Given the description of an element on the screen output the (x, y) to click on. 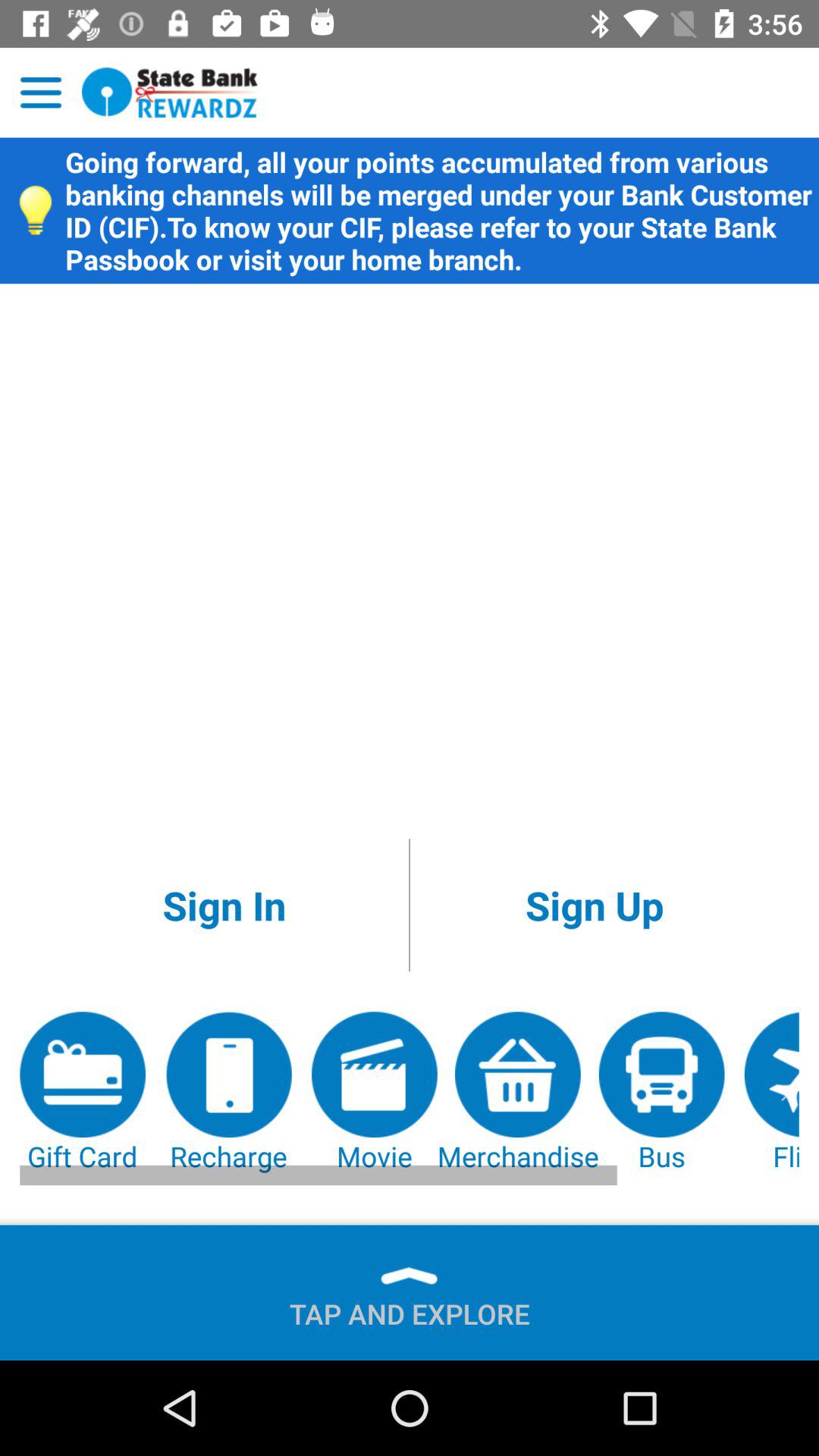
select icon above movie item (594, 904)
